Given the description of an element on the screen output the (x, y) to click on. 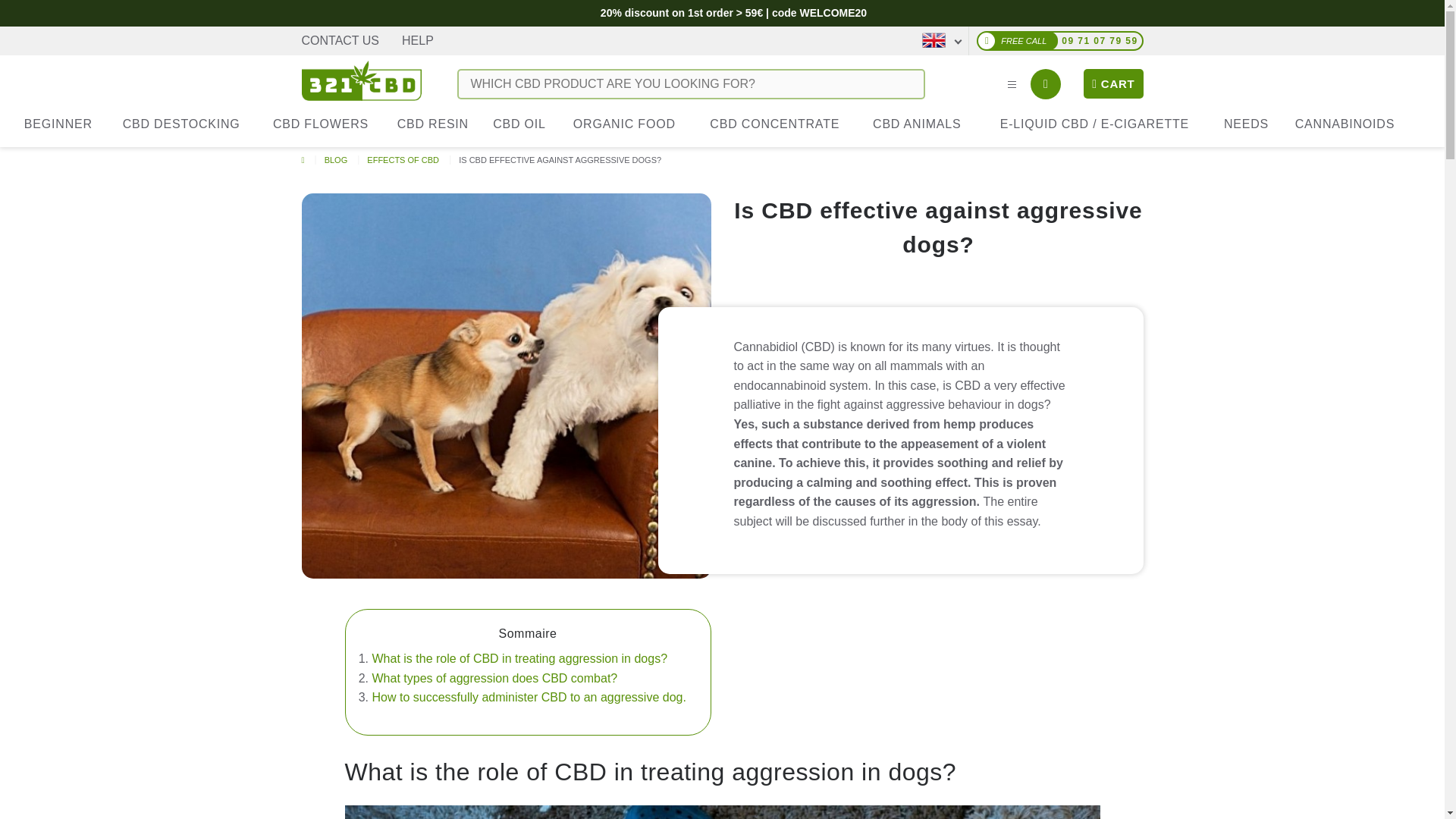
ORGANIC FOOD (624, 124)
321CBD (361, 76)
BLOG (337, 159)
What is the role of CBD in treating aggression in dogs? (518, 658)
CBD RESIN (432, 124)
CART (1112, 83)
Blog	 (337, 159)
CBD OIL (518, 124)
CBD ANIMALS (917, 124)
View my shopping cart	 (1112, 83)
Effects of CBD (402, 159)
EFFECTS OF CBD (402, 159)
What types of aggression does CBD combat? (494, 677)
How to successfully administer CBD to an aggressive dog. (528, 697)
